Given the description of an element on the screen output the (x, y) to click on. 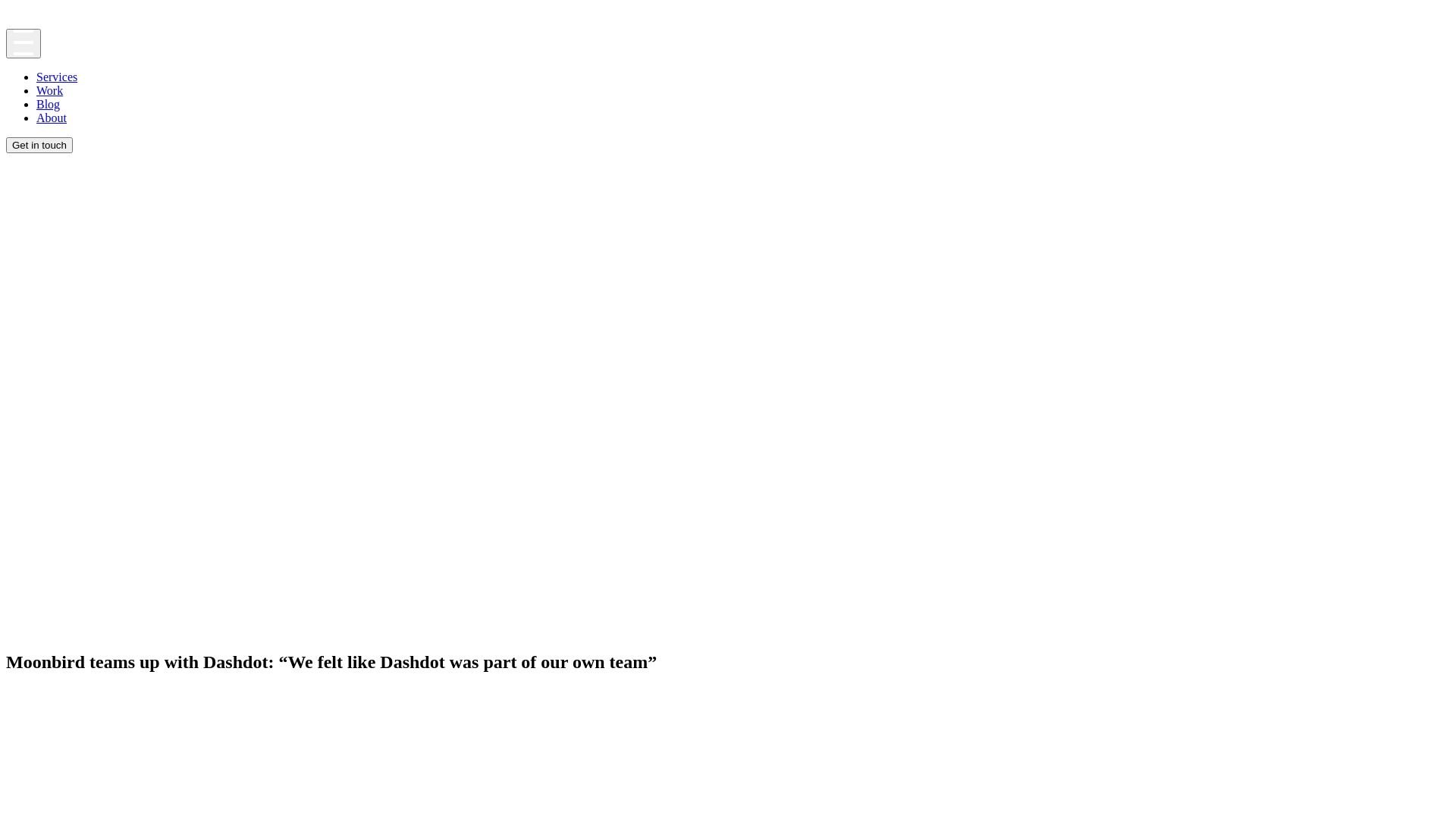
Work Element type: text (49, 90)
About Element type: text (51, 117)
Blog Element type: text (47, 103)
Services Element type: text (56, 76)
Get in touch Element type: text (39, 145)
